Given the description of an element on the screen output the (x, y) to click on. 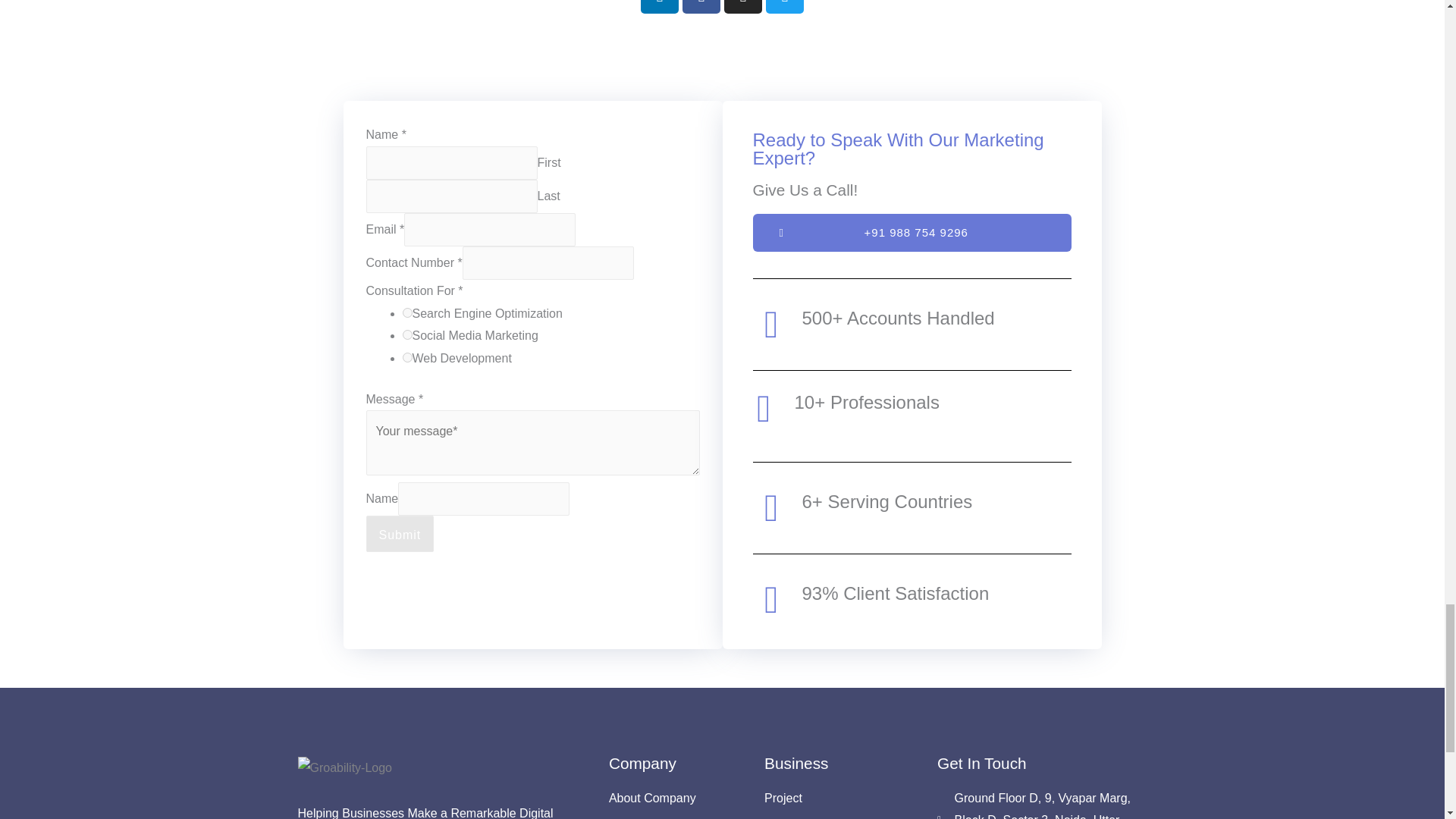
Submit (399, 533)
Social Media Marketing (406, 334)
About Company (678, 798)
Web Development (406, 357)
Search Engine Optimization (406, 312)
